Given the description of an element on the screen output the (x, y) to click on. 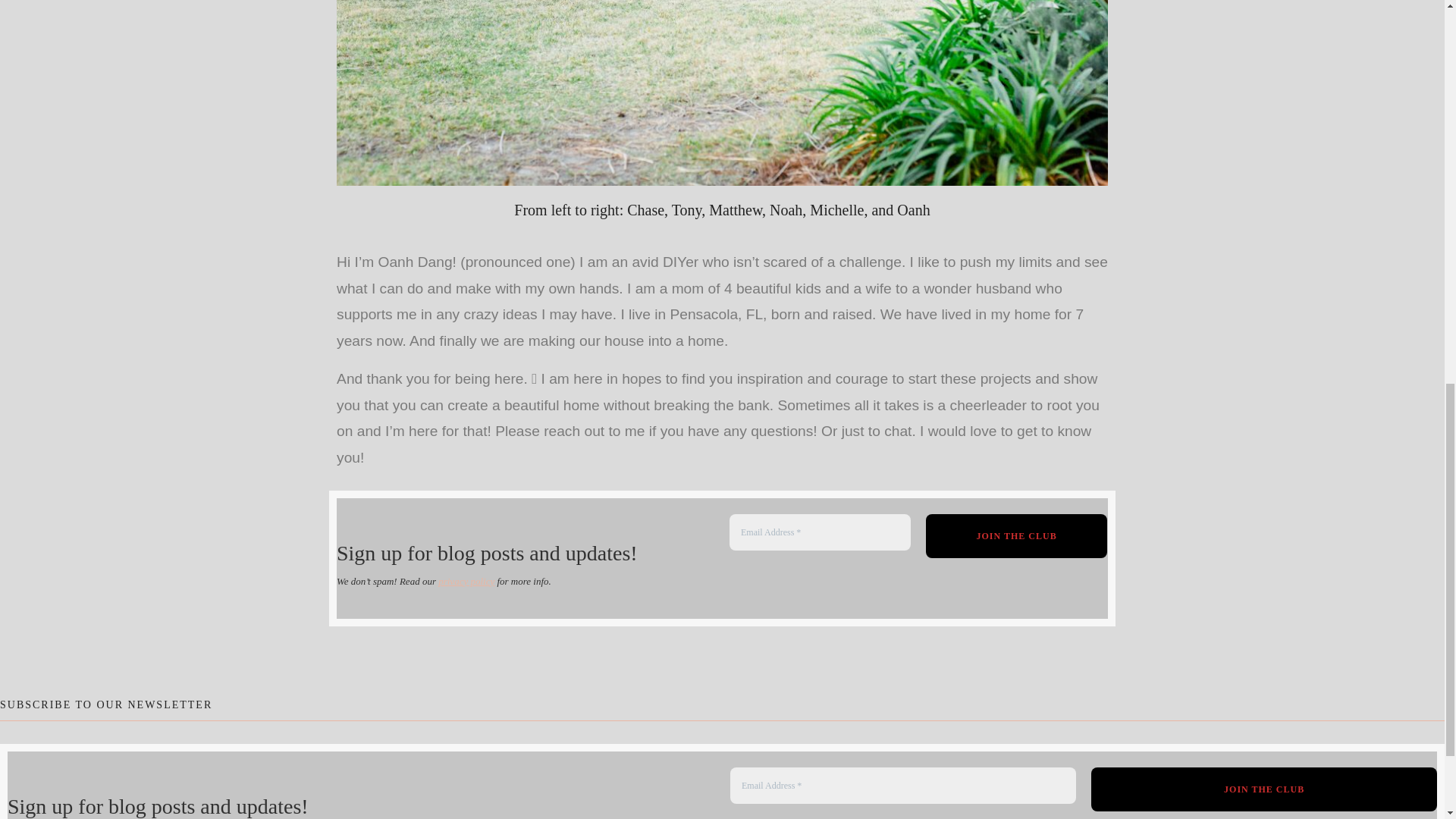
JOIN THE CLUB (1017, 535)
JOIN THE CLUB (1263, 789)
JOIN THE CLUB (1017, 535)
Email Address (902, 785)
Email Address (820, 532)
privacy policy (466, 581)
JOIN THE CLUB (1263, 789)
